Given the description of an element on the screen output the (x, y) to click on. 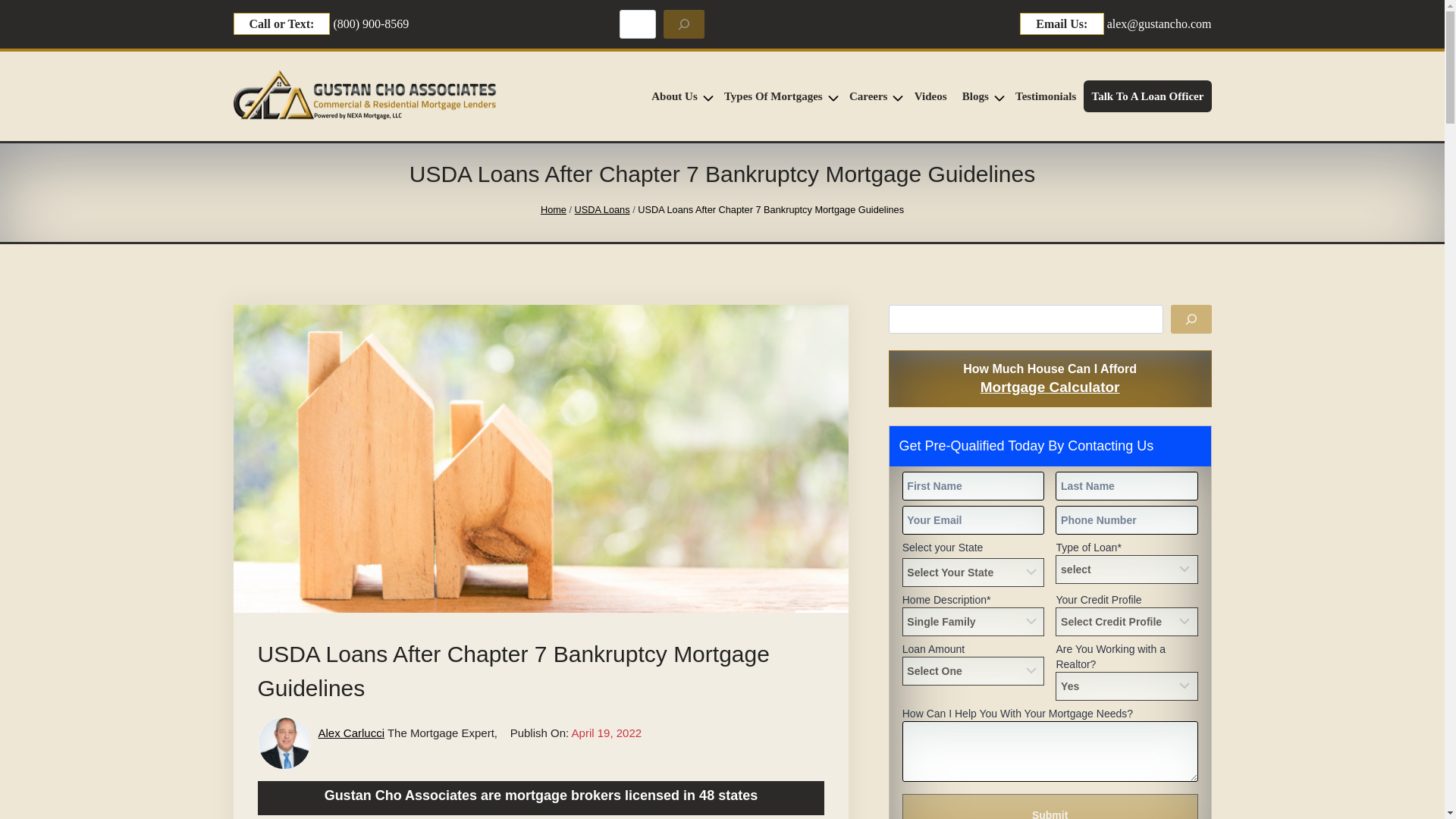
Submit (1050, 806)
Types Of Mortgages (778, 96)
Posts by Alex Carlucci (351, 732)
Call or Text: (281, 24)
About Us (679, 96)
Email Us: (1061, 24)
